Given the description of an element on the screen output the (x, y) to click on. 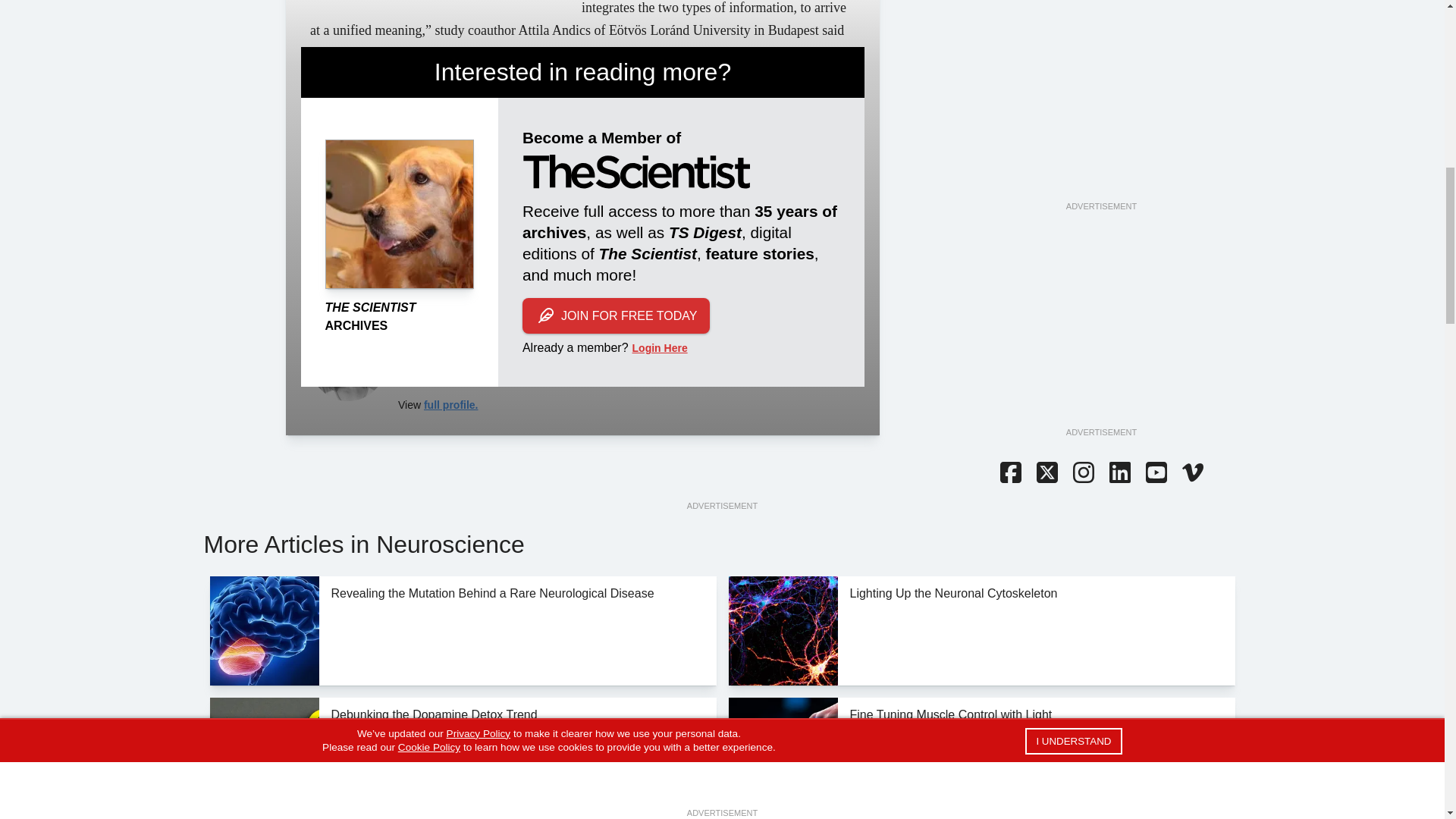
3rd party ad content (1100, 330)
3rd party ad content (1100, 104)
Jef Akst (347, 363)
